Given the description of an element on the screen output the (x, y) to click on. 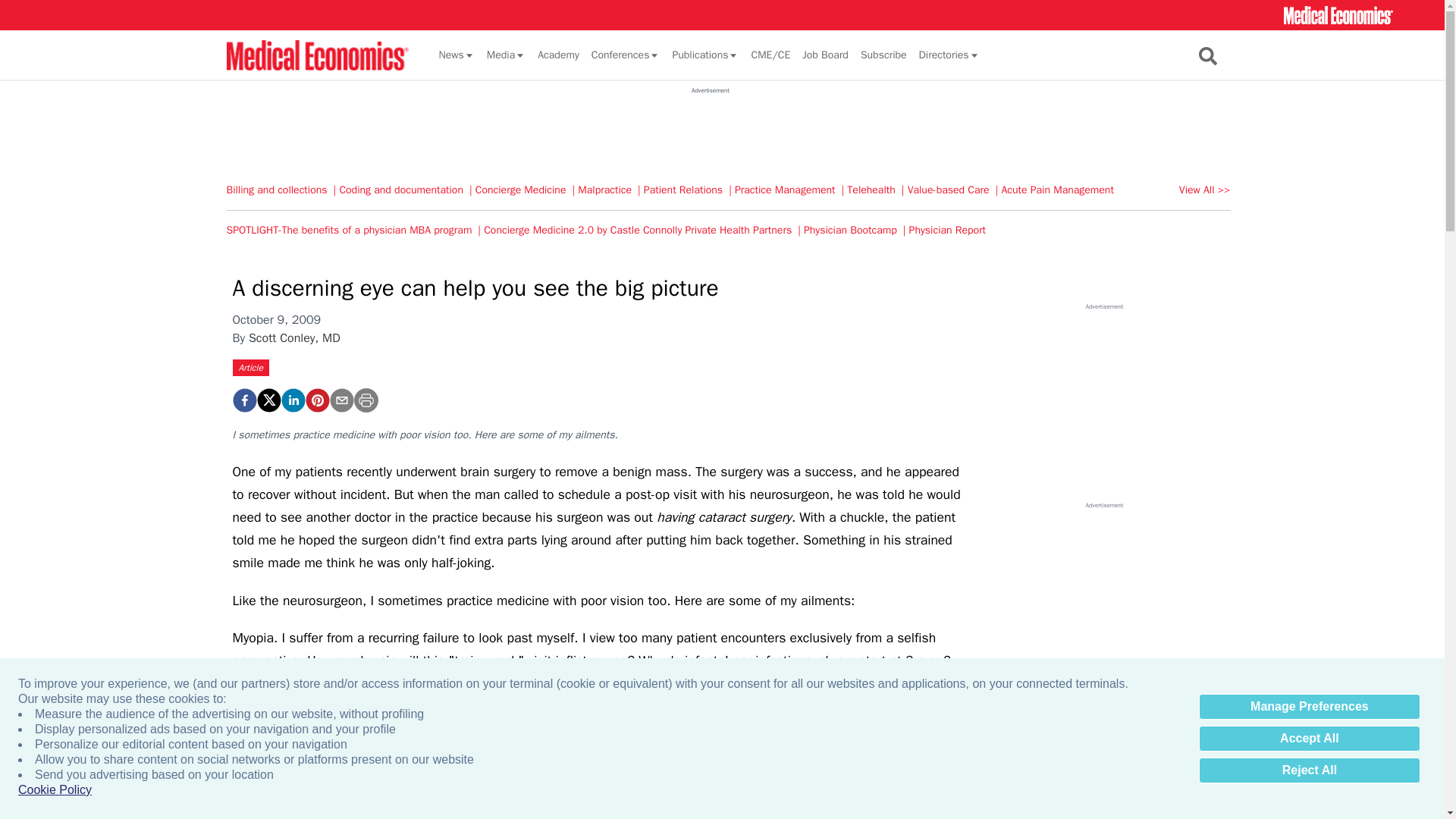
A discerning eye can help you see the big picture (243, 400)
Manage Preferences (1309, 706)
Academy (558, 54)
Cookie Policy (54, 789)
A discerning eye can help you see the big picture (316, 400)
Accept All (1309, 738)
3rd party ad content (709, 128)
Reject All (1309, 769)
